Given the description of an element on the screen output the (x, y) to click on. 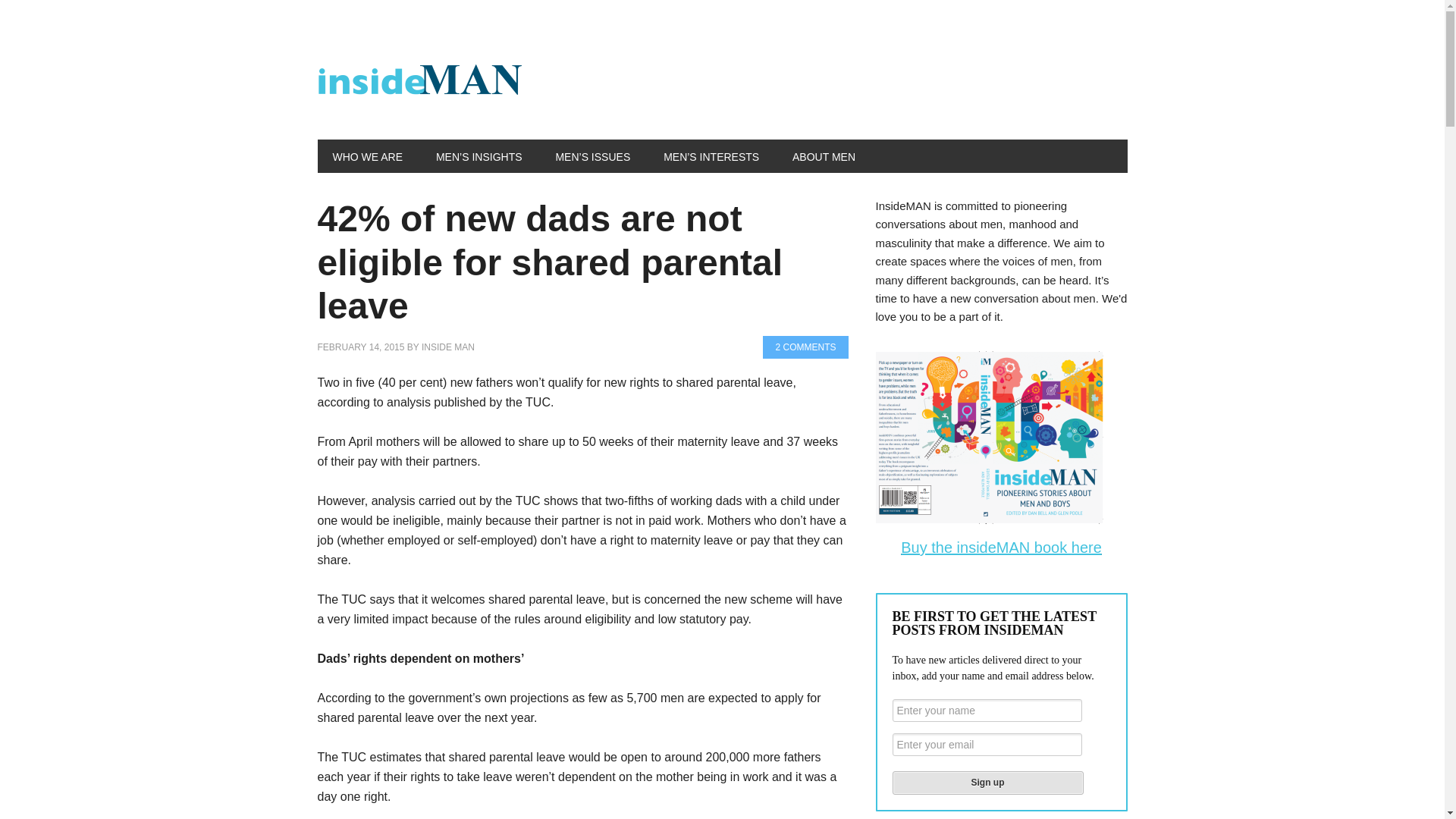
INSIDE MAN (448, 347)
ABOUT MEN (823, 155)
INSIDEMAN (419, 81)
Sign up (987, 782)
2 COMMENTS (804, 346)
WHO WE ARE (367, 155)
